Given the description of an element on the screen output the (x, y) to click on. 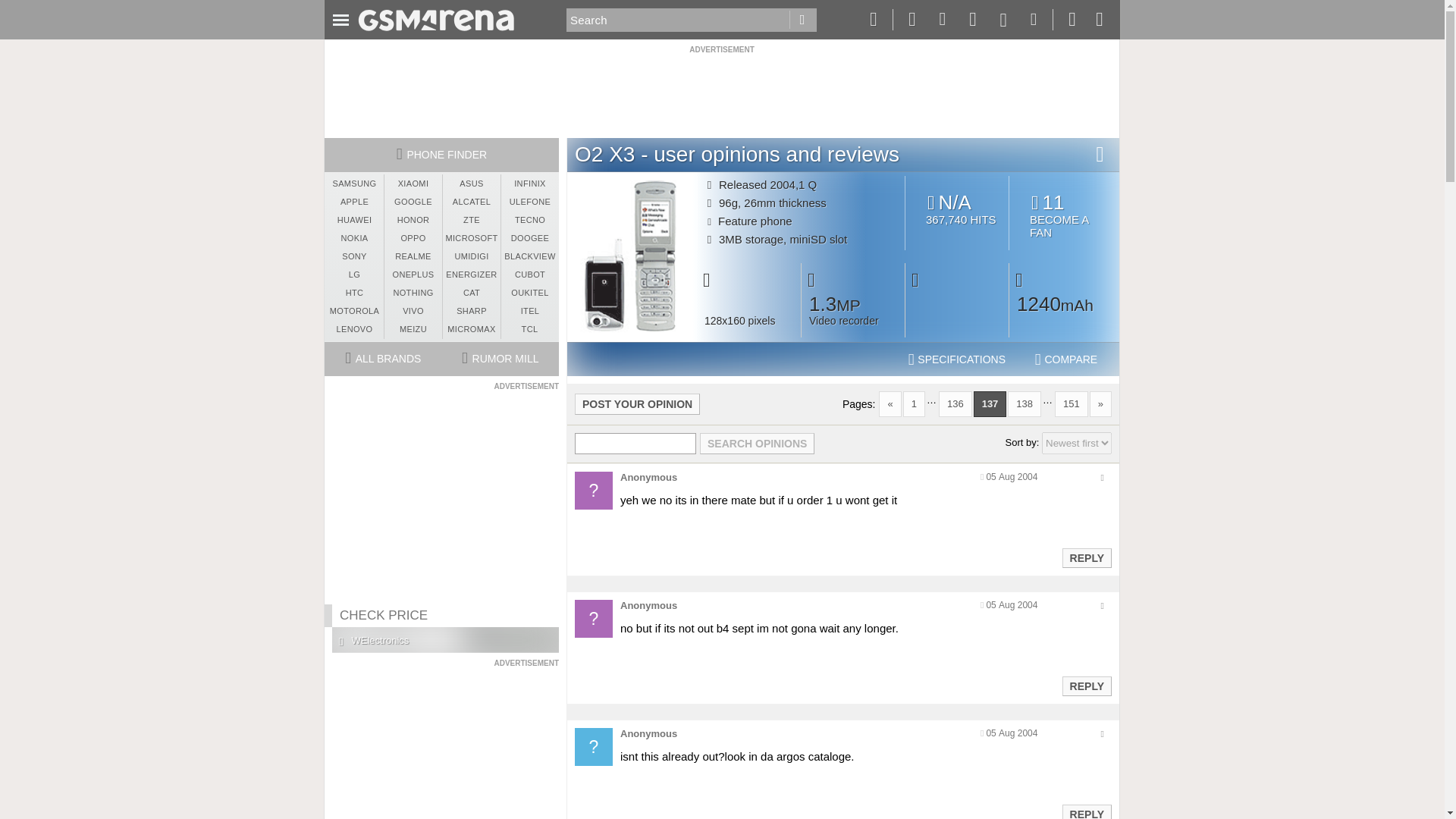
151 (1070, 403)
O2 X3 phone specifications (957, 359)
Reply to this post (1086, 813)
Sort comments by (1077, 443)
Reply to this post (1086, 558)
Next page (1100, 403)
Previous page (890, 403)
COMPARE (1066, 359)
Reply to this post (1086, 686)
Go (802, 19)
138 (1064, 214)
Go (1024, 403)
POST YOUR OPINION (802, 19)
